Given the description of an element on the screen output the (x, y) to click on. 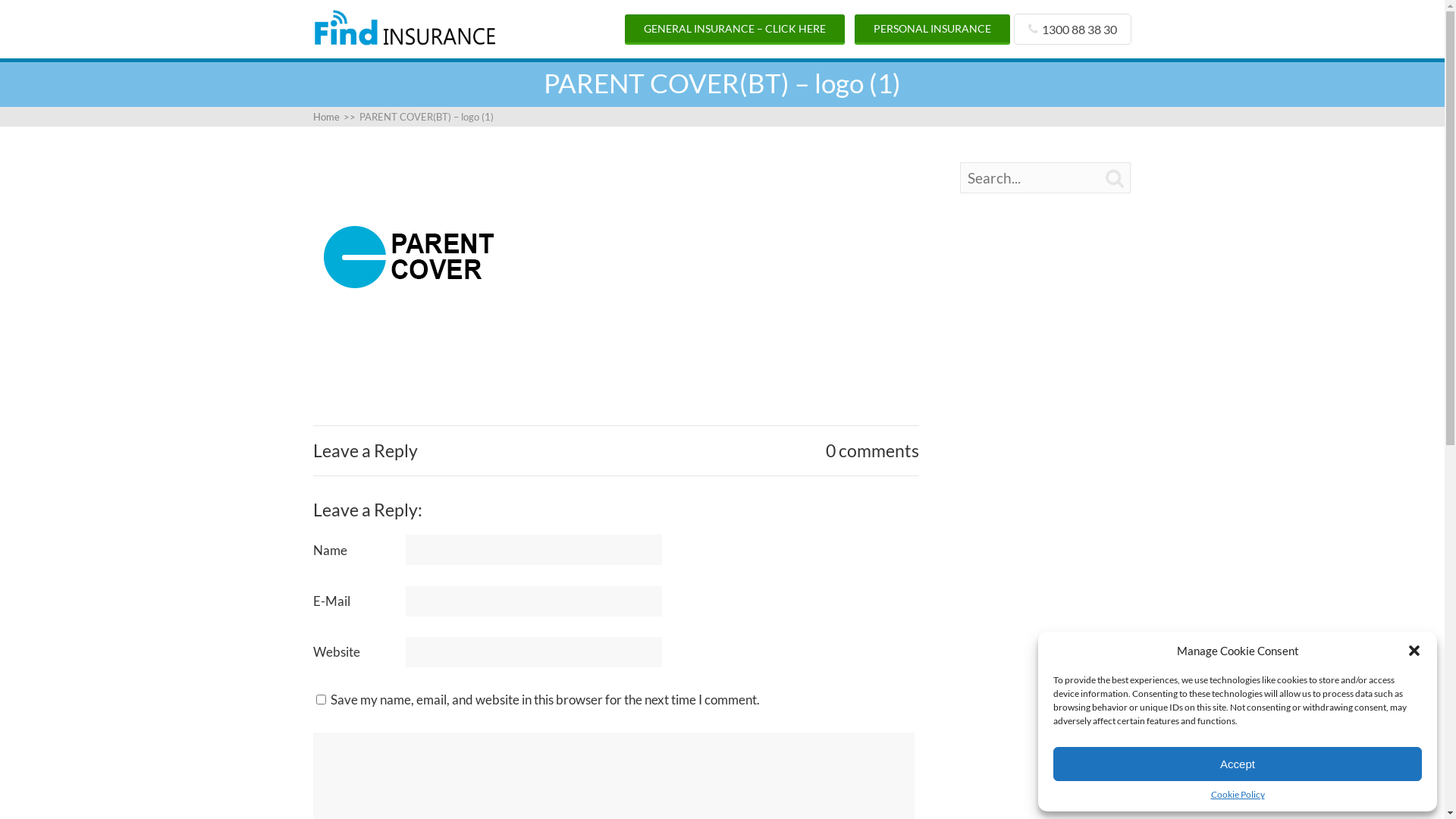
PERSONAL INSURANCE Element type: text (932, 29)
1300 88 38 30 Element type: text (1072, 28)
Accept Element type: text (1237, 763)
Cookie Policy Element type: text (1237, 794)
Home >> Element type: text (335, 116)
